Given the description of an element on the screen output the (x, y) to click on. 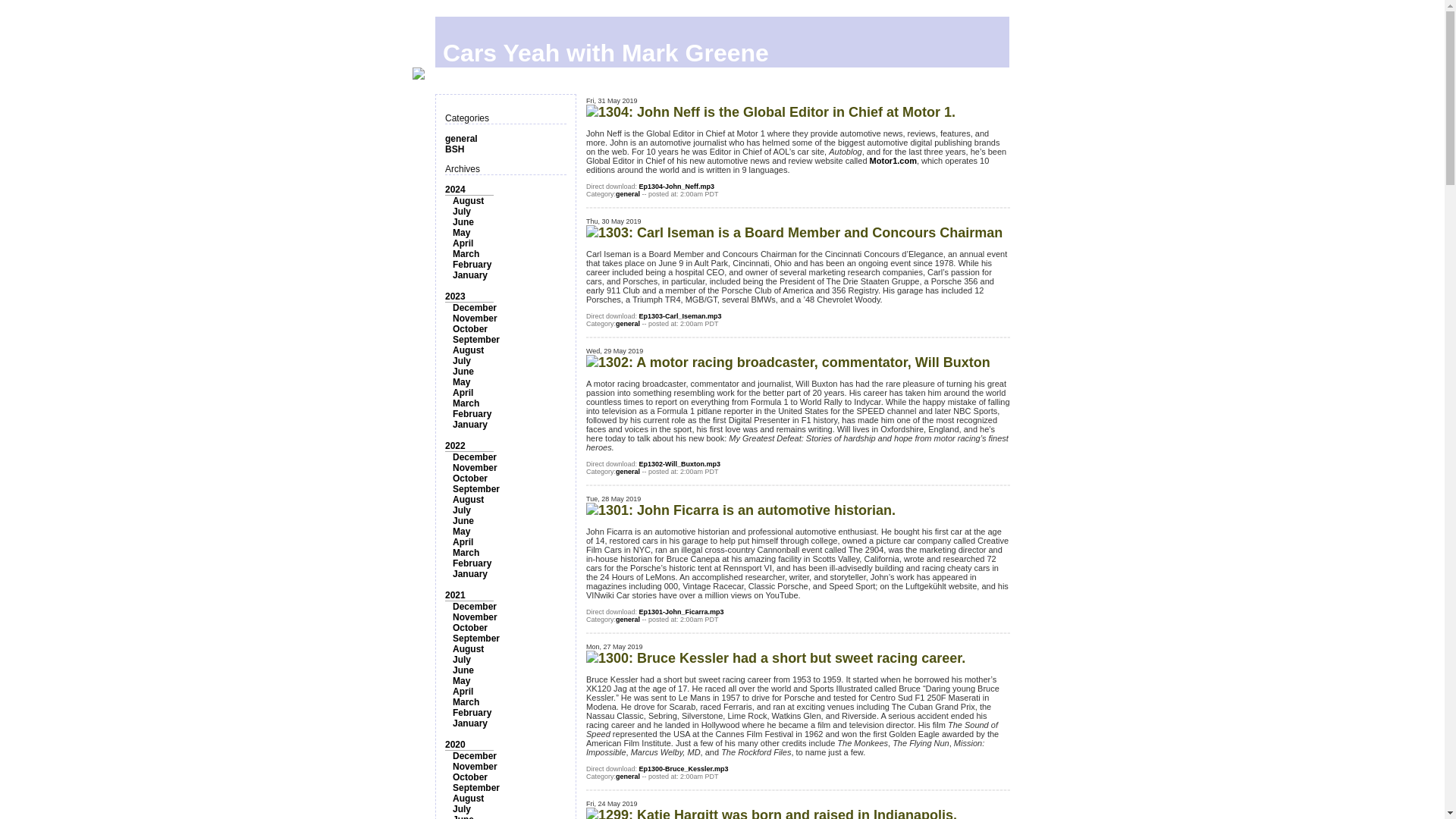
November (474, 616)
April (462, 243)
April (462, 392)
December (474, 457)
August (467, 200)
May (461, 381)
May (461, 232)
February (472, 413)
October (469, 328)
August (467, 349)
November (474, 317)
February (472, 562)
June (463, 520)
BSH (454, 149)
June (463, 222)
